Given the description of an element on the screen output the (x, y) to click on. 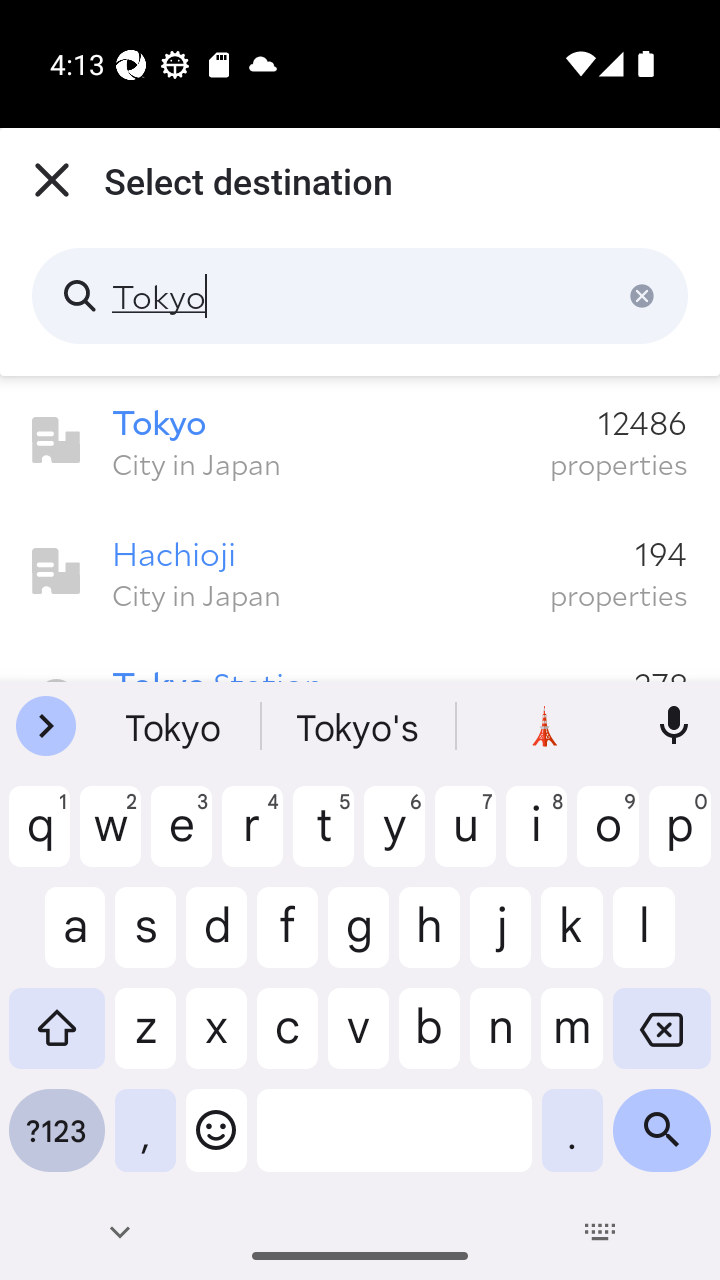
Tokyo (359, 296)
Tokyo 12486 City in Japan properties (360, 441)
Hachioji 194 City in Japan properties (360, 571)
